Given the description of an element on the screen output the (x, y) to click on. 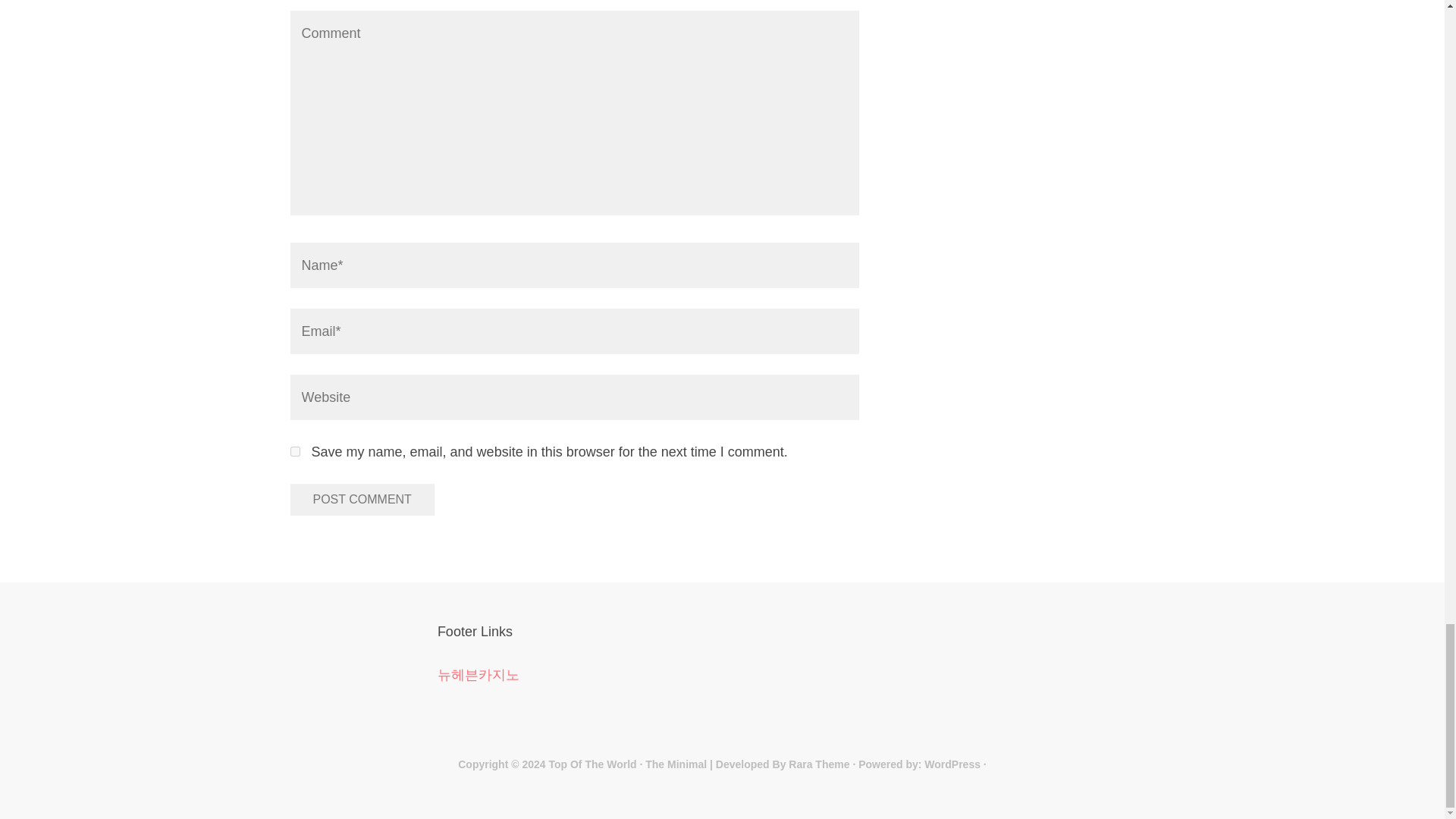
yes (294, 451)
Post Comment (361, 499)
Post Comment (361, 499)
